Given the description of an element on the screen output the (x, y) to click on. 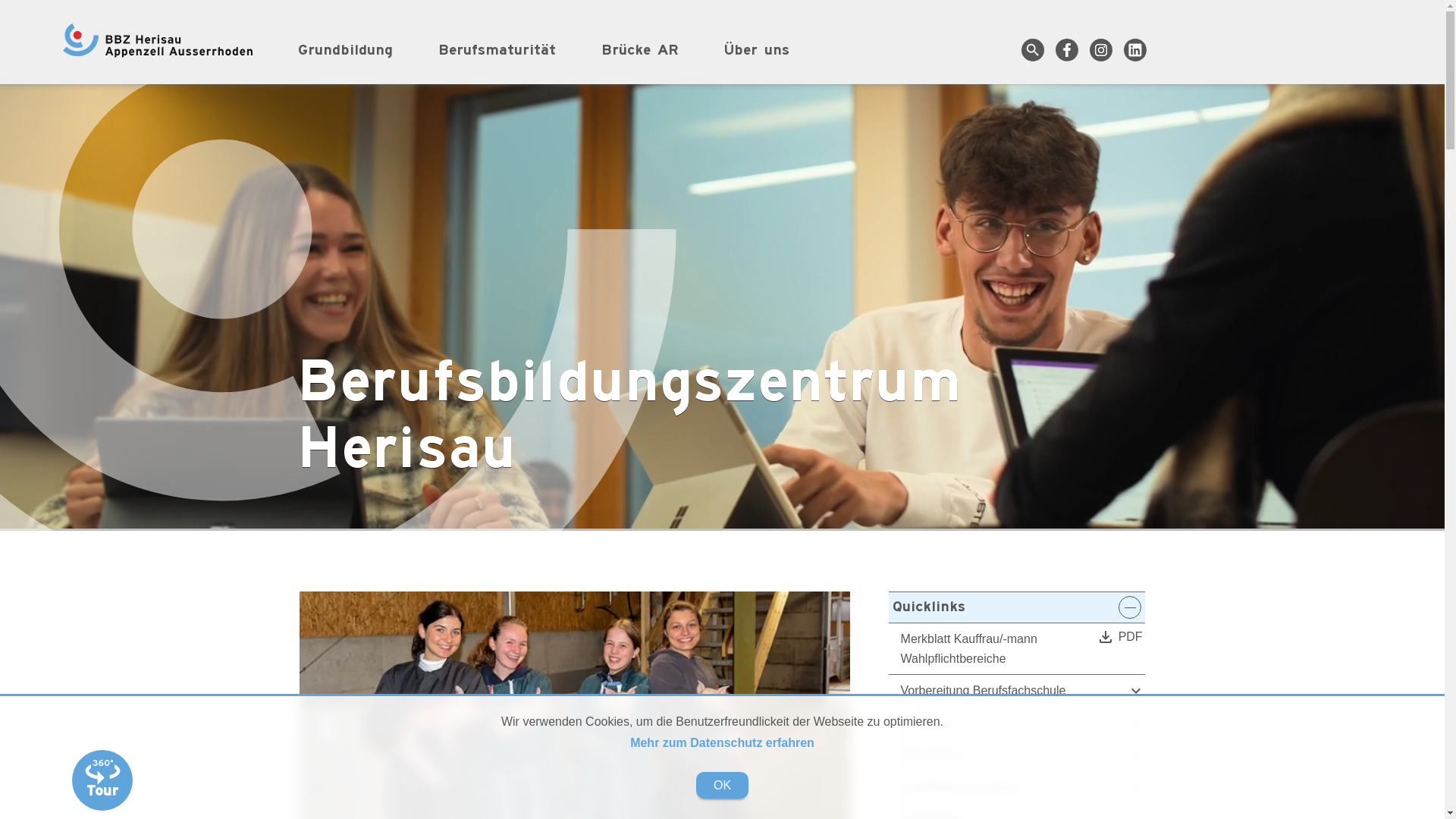
Quicklinks Element type: text (1016, 607)
BBZ Herisau Element type: hover (157, 40)
Lernende
expand_more Element type: text (1016, 723)
Grundbildung Element type: text (356, 49)
Qualifikationsverfahren
expand_more Element type: text (1016, 787)
V&V (KGA)
expand_more Element type: text (1016, 755)
Mehr zum Datenschutz erfahren Element type: text (722, 742)
Vorbereitung Berufsfachschule
expand_more Element type: text (1016, 690)
OK Element type: text (722, 784)
